Given the description of an element on the screen output the (x, y) to click on. 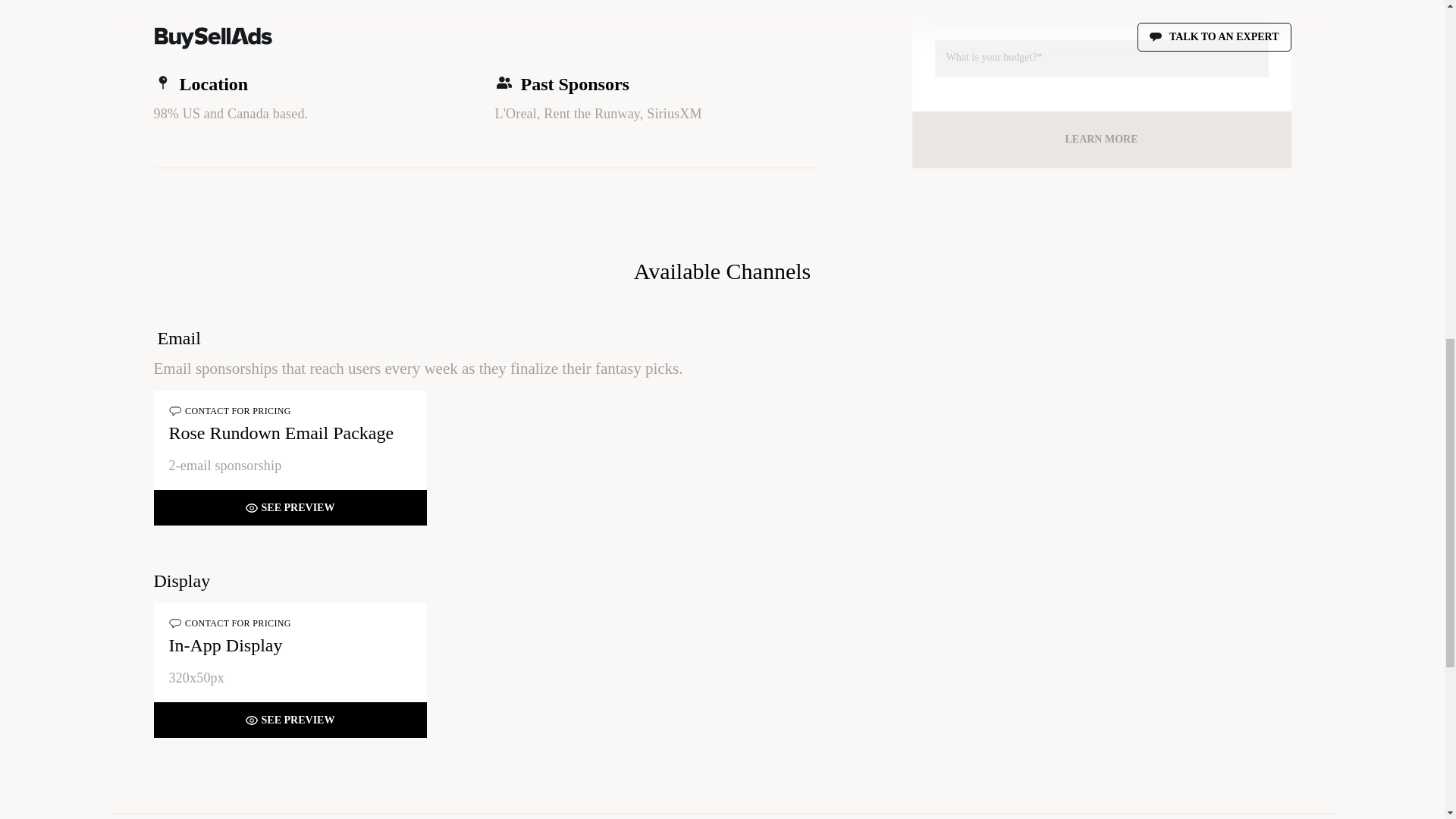
SEE PREVIEW (289, 507)
SEE PREVIEW (289, 719)
Learn more (1100, 139)
Learn more (1100, 139)
